Given the description of an element on the screen output the (x, y) to click on. 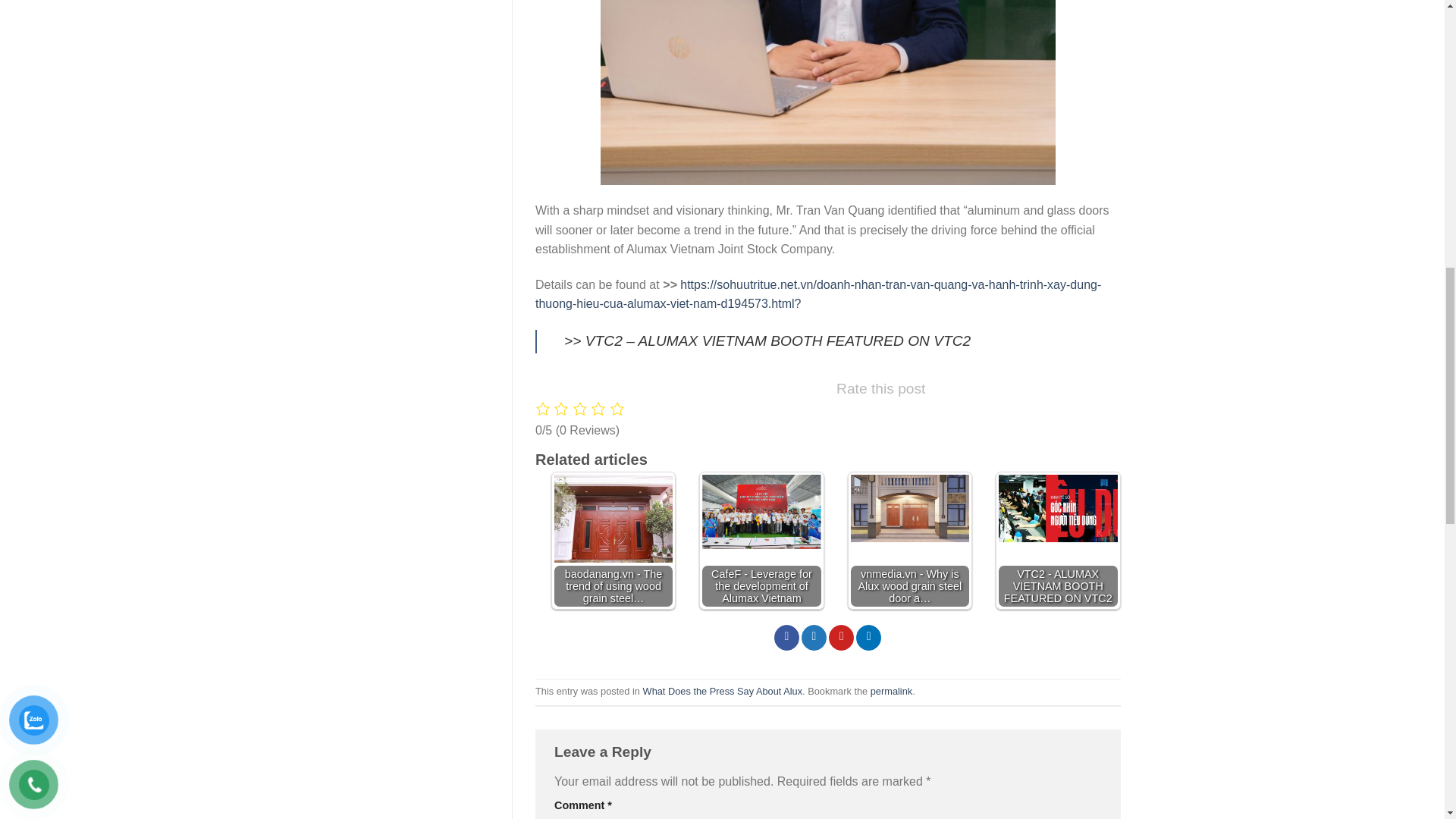
VTC2 - ALUMAX VIETNAM BOOTH FEATURED ON VTC2 (1058, 508)
Pin on Pinterest (840, 637)
Share on LinkedIn (868, 637)
CafeF - Leverage for the development of Alumax Vietnam (761, 511)
Share on Twitter (814, 637)
Share on Facebook (786, 637)
